Given the description of an element on the screen output the (x, y) to click on. 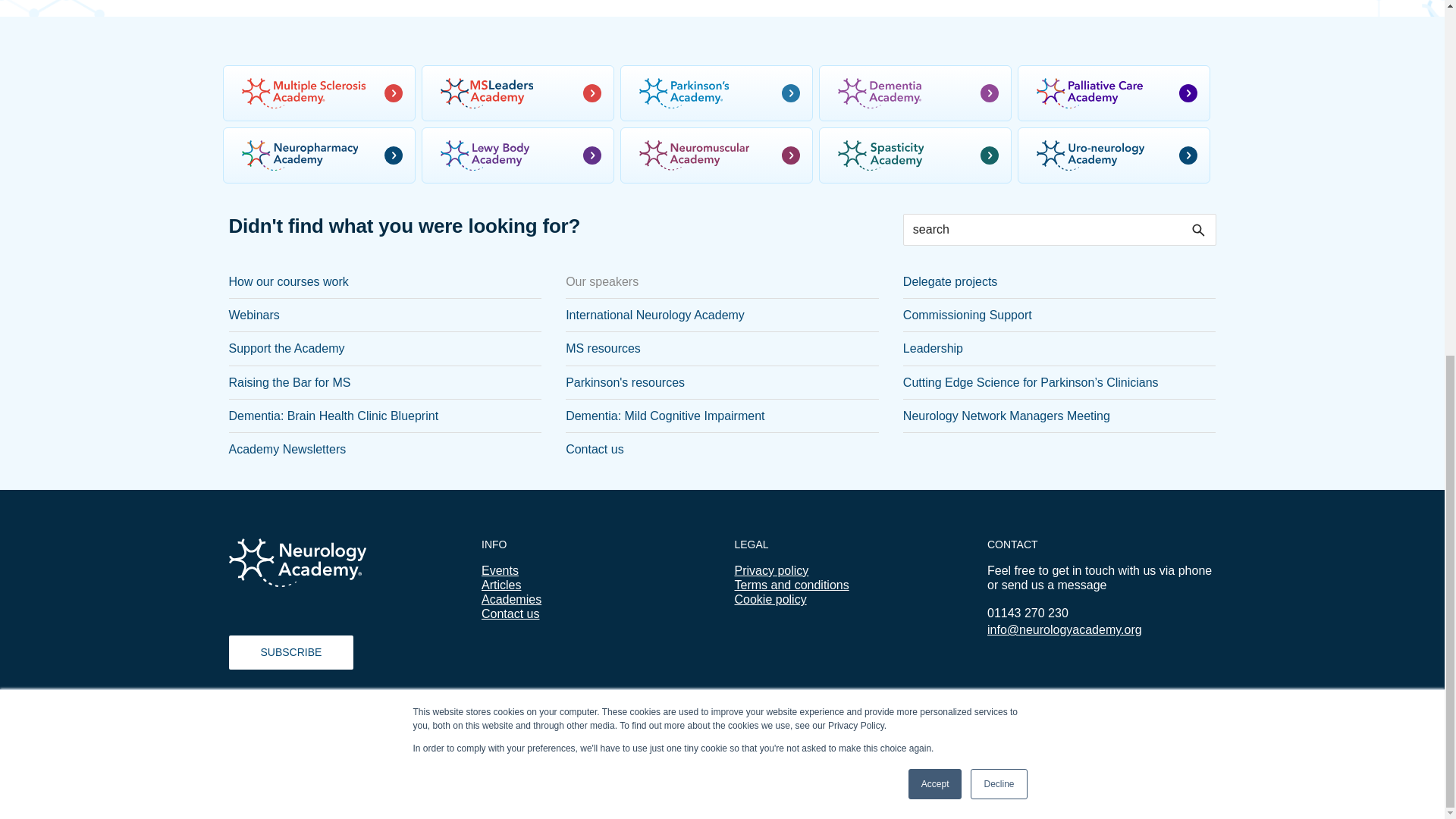
Got it! (1396, 168)
Accept (935, 160)
Decline (998, 160)
Learn More (492, 167)
